Given the description of an element on the screen output the (x, y) to click on. 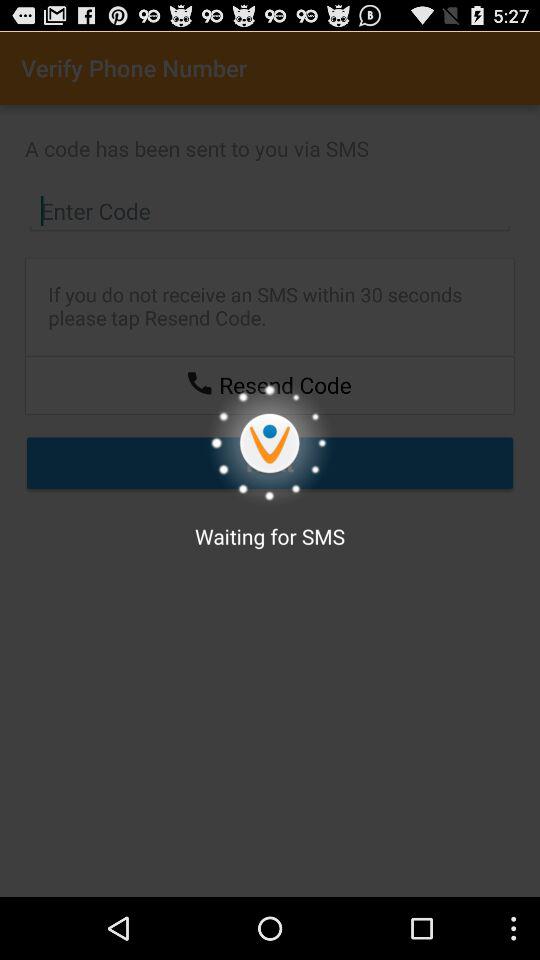
resend code through phone (199, 381)
